Given the description of an element on the screen output the (x, y) to click on. 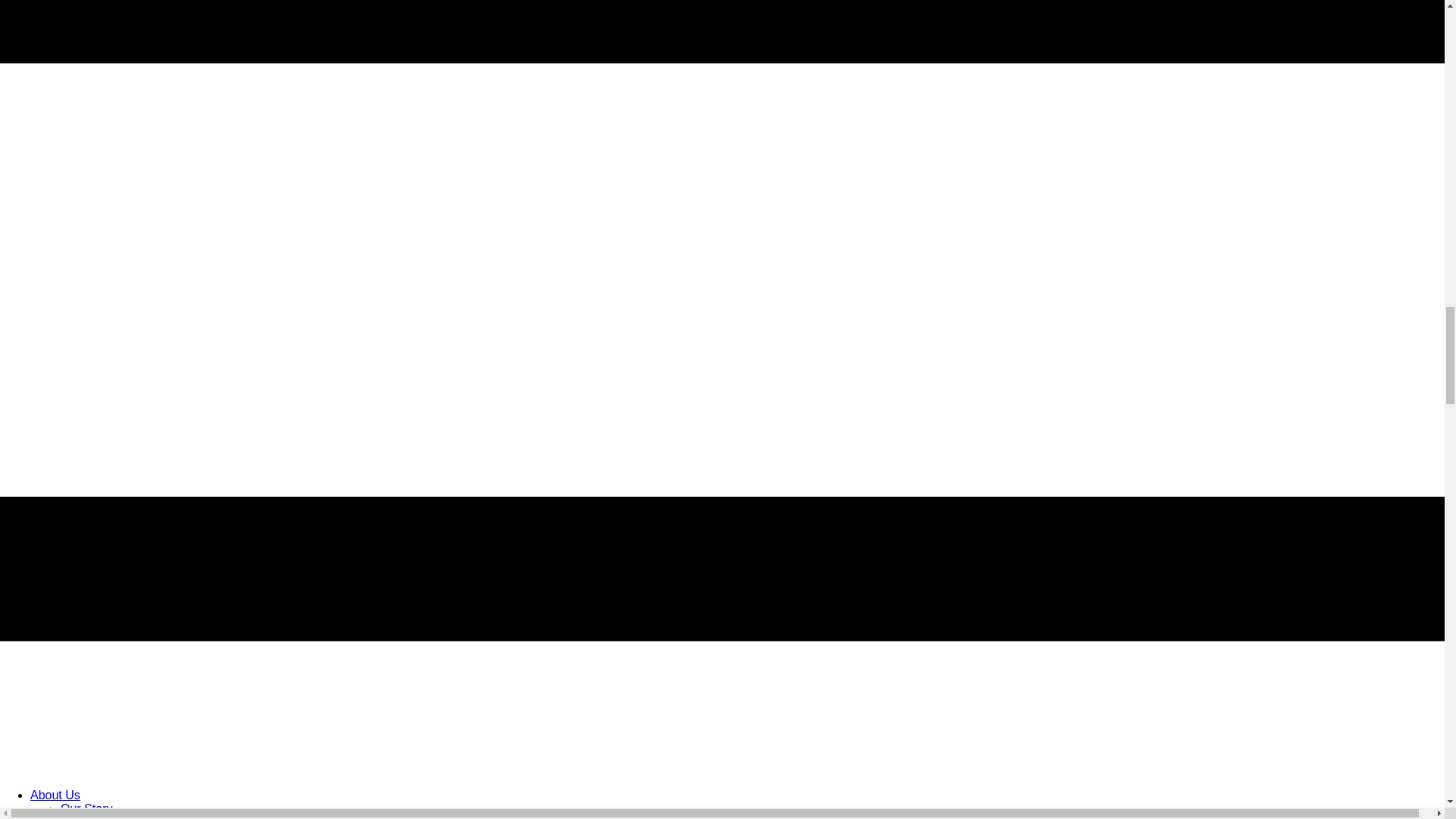
About Us (55, 794)
Our Story (86, 808)
Leadership (90, 817)
